Given the description of an element on the screen output the (x, y) to click on. 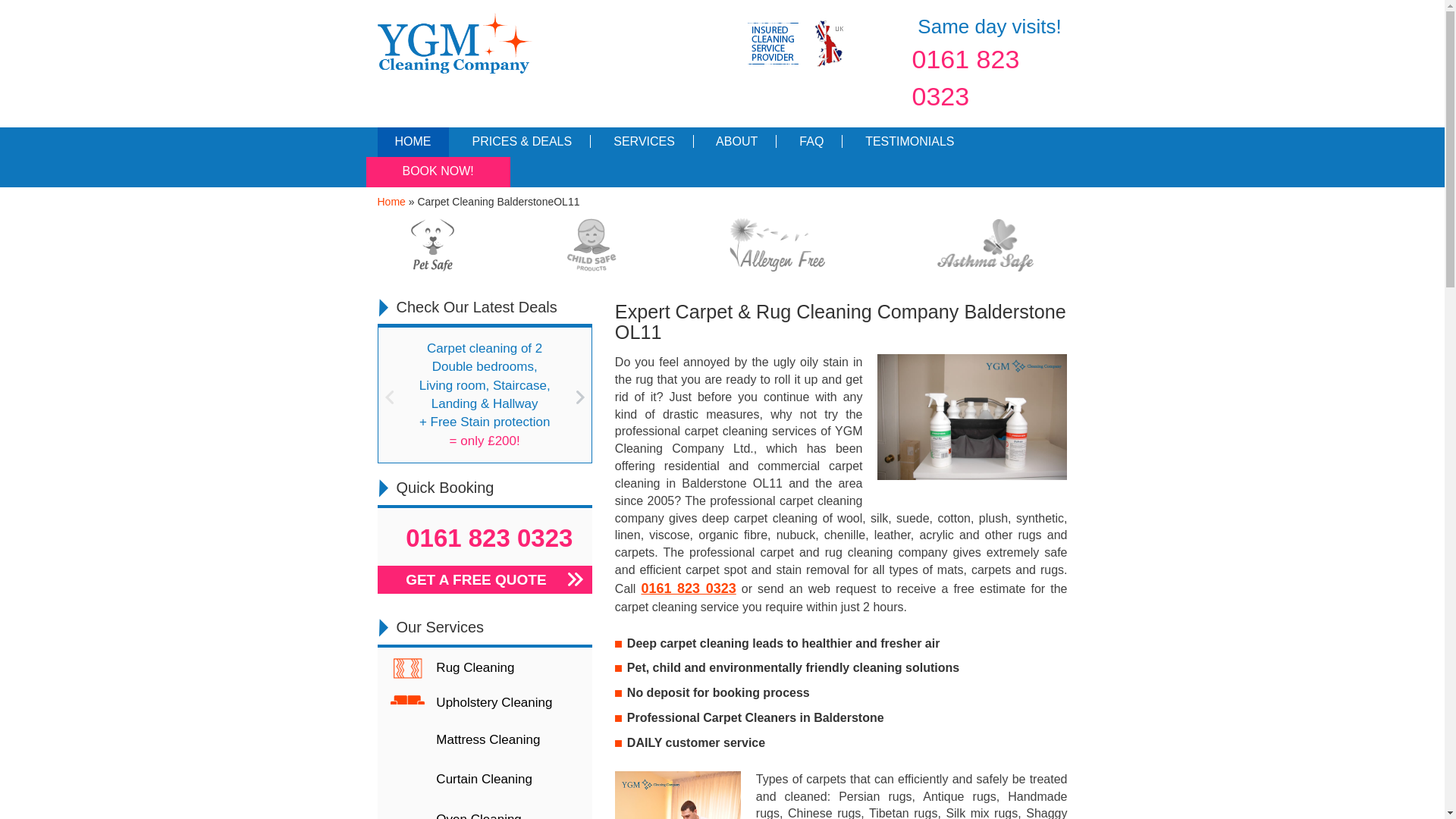
  FAQ (808, 142)
Curtain Cleaning (484, 780)
Services (641, 142)
Mattress Cleaning (484, 740)
Upholstery Cleaning (484, 703)
  SERVICES (641, 142)
Oven Cleaning (484, 809)
FAQ (808, 142)
  TESTIMONIALS (906, 142)
Home (412, 142)
